Given the description of an element on the screen output the (x, y) to click on. 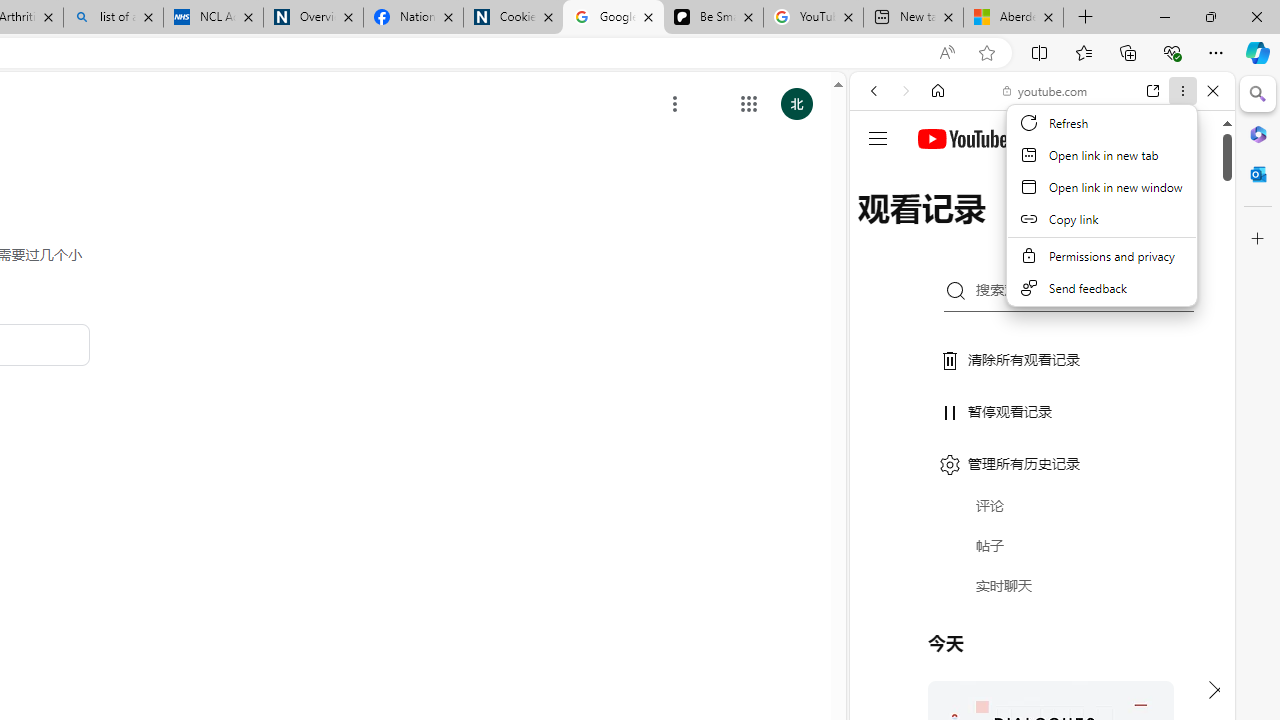
Search Filter, IMAGES (939, 228)
Close Customize pane (1258, 239)
Open link in new tab (1153, 91)
Trailer #2 [HD] (1042, 594)
Open link in new tab (1101, 154)
Be Smart | creating Science videos | Patreon (713, 17)
Permissions and privacy (1101, 255)
list of asthma inhalers uk - Search (113, 17)
Copy link (1101, 218)
Preferences (1189, 228)
IMAGES (939, 228)
